Given the description of an element on the screen output the (x, y) to click on. 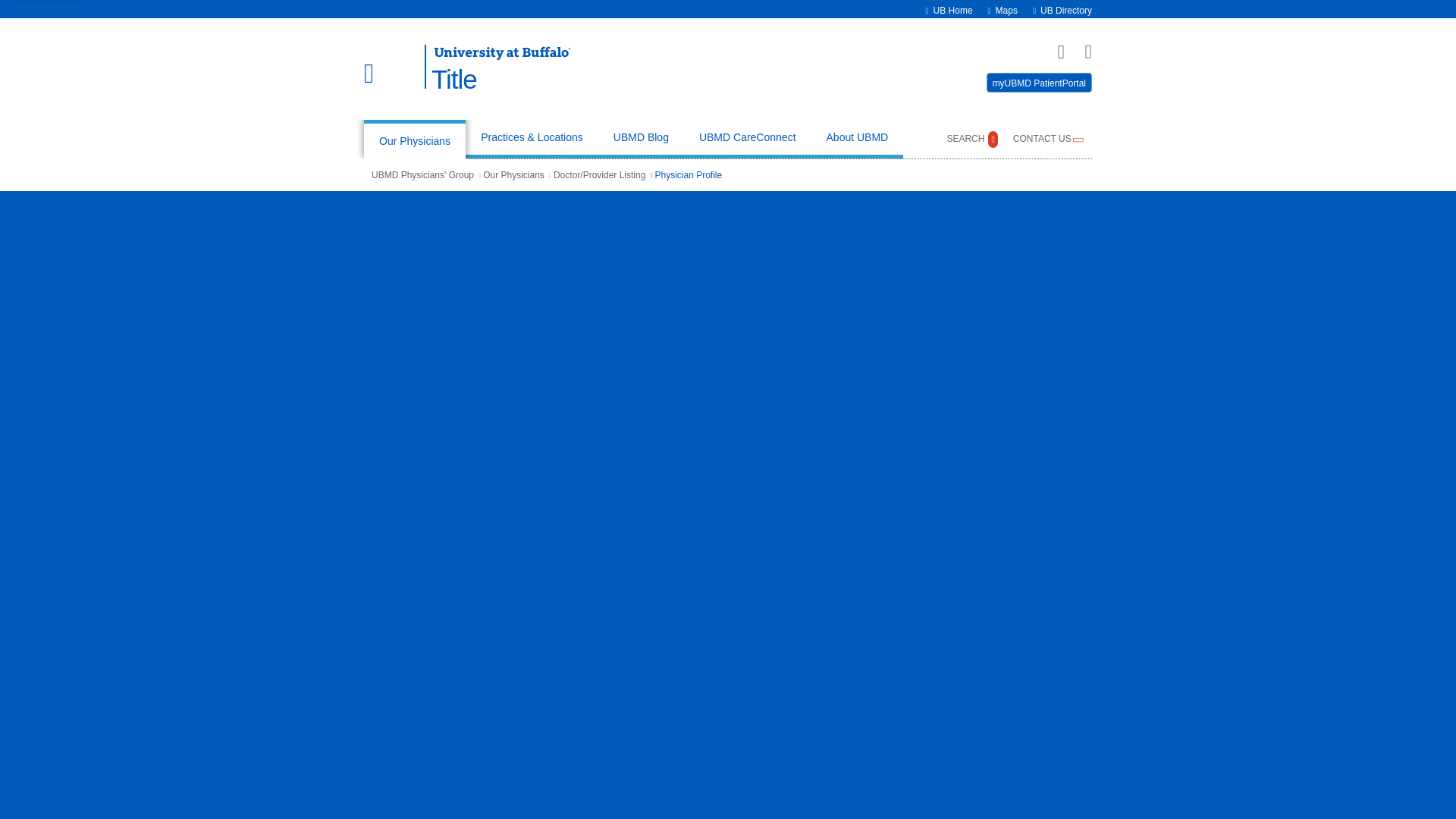
About UBMD (857, 138)
UBMD CareConnect (747, 138)
Our Physicians (414, 138)
UB Home (952, 9)
Follow us on Instagram (1081, 51)
Title (500, 79)
myUBMD PatientPortal (1039, 82)
UBMD Blog (641, 138)
UB Directory (1066, 9)
Maps (1006, 9)
Connect with us on Facebook (1054, 51)
